Given the description of an element on the screen output the (x, y) to click on. 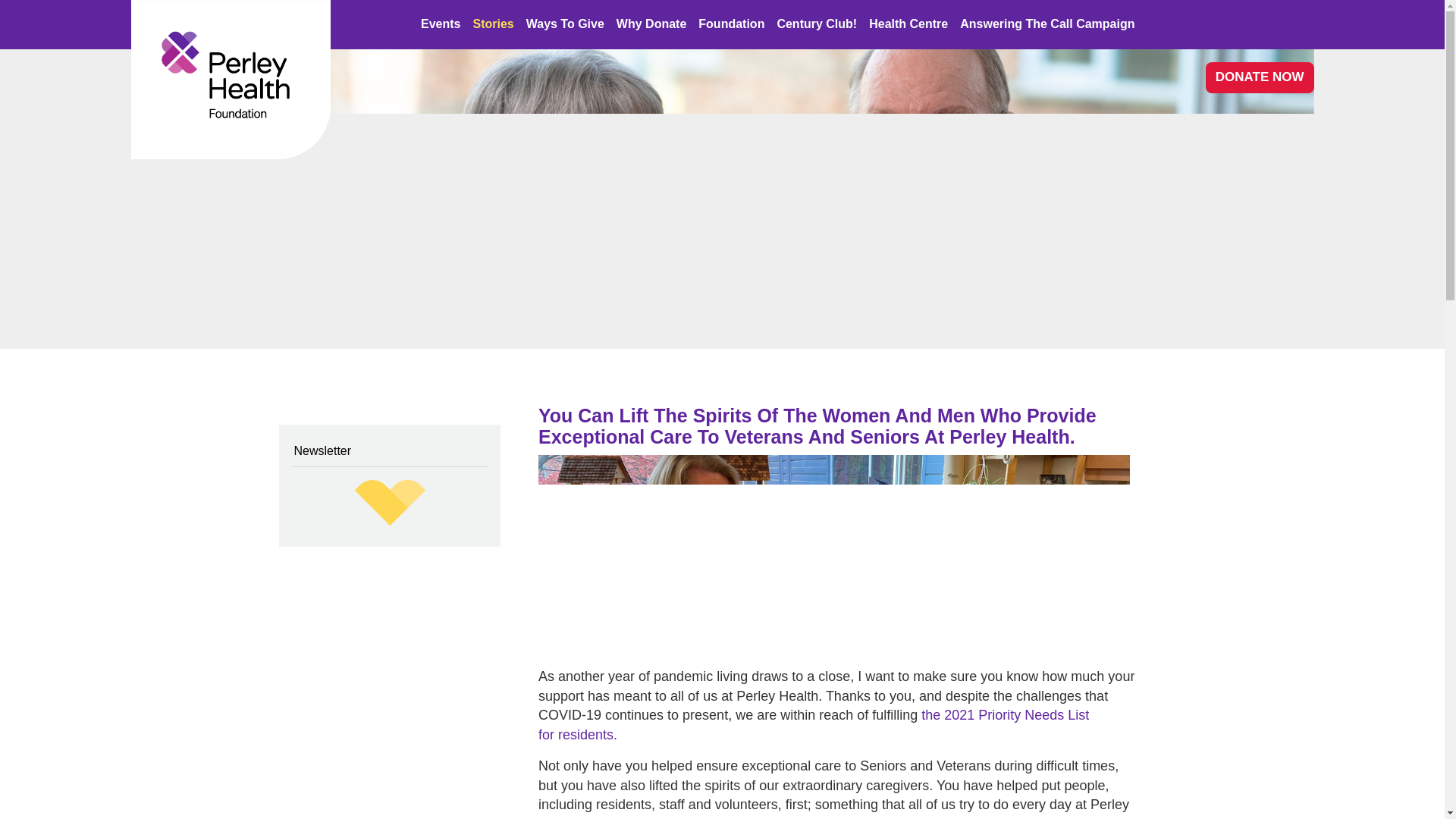
Answering The Call Campaign (1046, 23)
Foundation (731, 23)
Why Donate (650, 23)
Health Centre (908, 23)
DONATE NOW (1259, 77)
Ways To Give (564, 23)
Century Club! (816, 23)
